Given the description of an element on the screen output the (x, y) to click on. 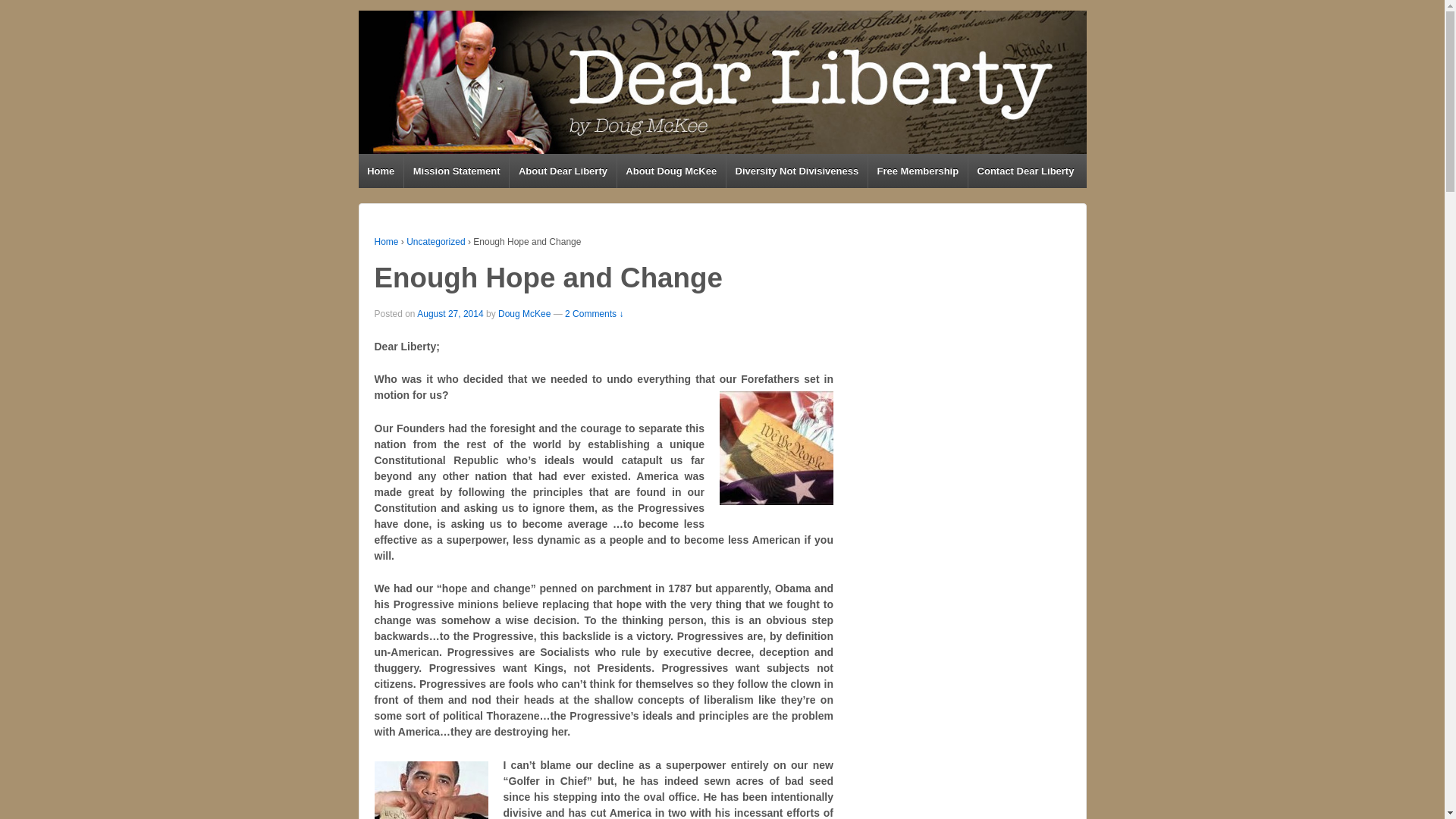
Free Membership (917, 170)
About Doug McKee (670, 170)
Contact Dear Liberty (1025, 170)
August 27, 2014 (449, 313)
Enough Hope and Change (449, 313)
Home (380, 170)
Diversity Not Divisiveness (796, 170)
Doug McKee (523, 313)
Home (386, 241)
View all posts by Doug McKee (523, 313)
Comment on Enough Hope and Change (593, 313)
About Dear Liberty (561, 170)
Mission Statement (455, 170)
Uncategorized (435, 241)
